Given the description of an element on the screen output the (x, y) to click on. 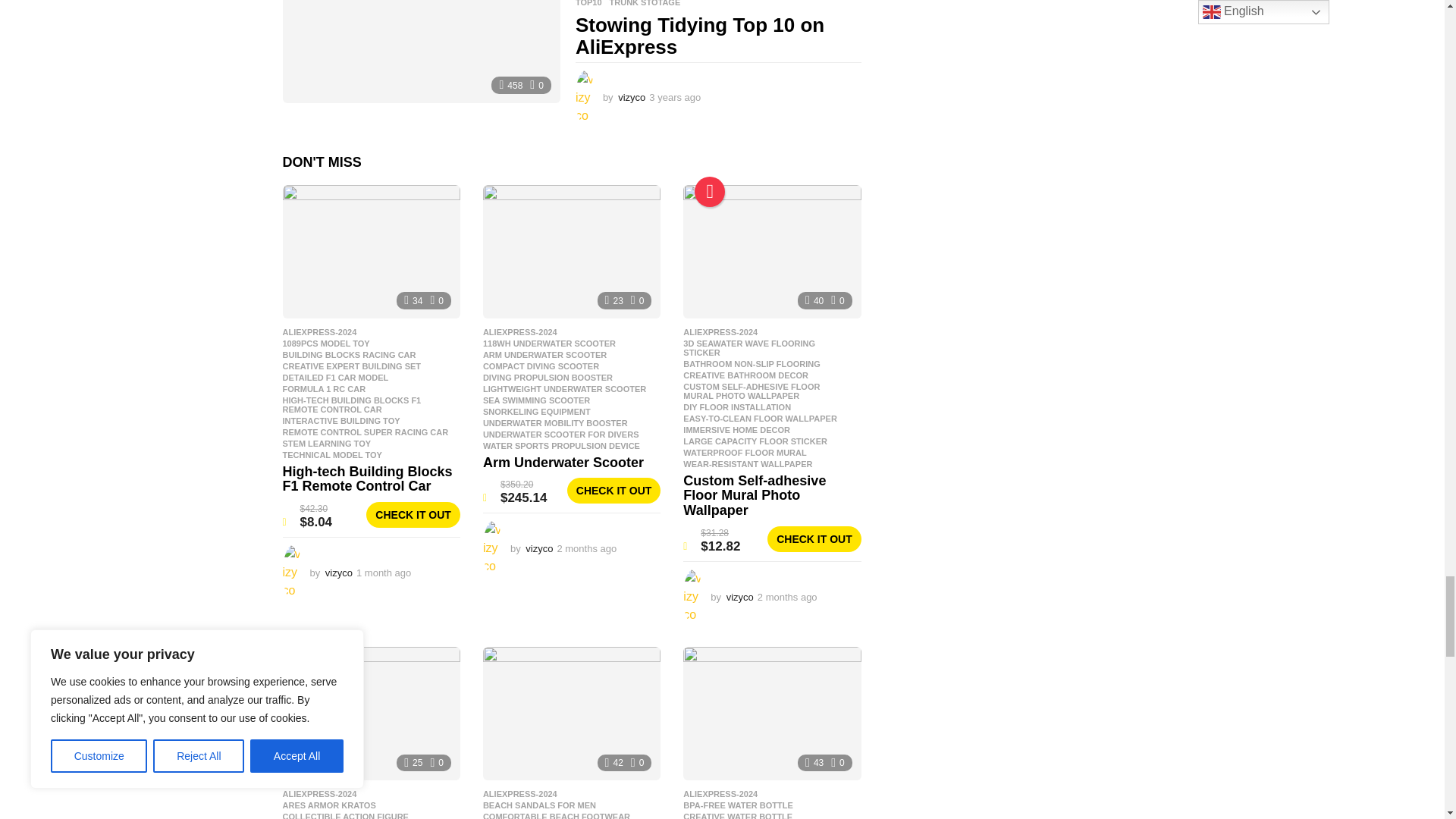
Stowing Tidying Top 10 on AliExpress (420, 51)
NECA God of War Kratos Action Figure (371, 713)
Hot (709, 191)
TKK Sports Water Bottle (771, 713)
High-tech Building Blocks F1 Remote Control Car (371, 251)
Arm Underwater Scooter (572, 251)
Custom Self-adhesive Floor Mural Photo Wallpaper (771, 251)
Men Vacation Beach Sandals (572, 713)
